Given the description of an element on the screen output the (x, y) to click on. 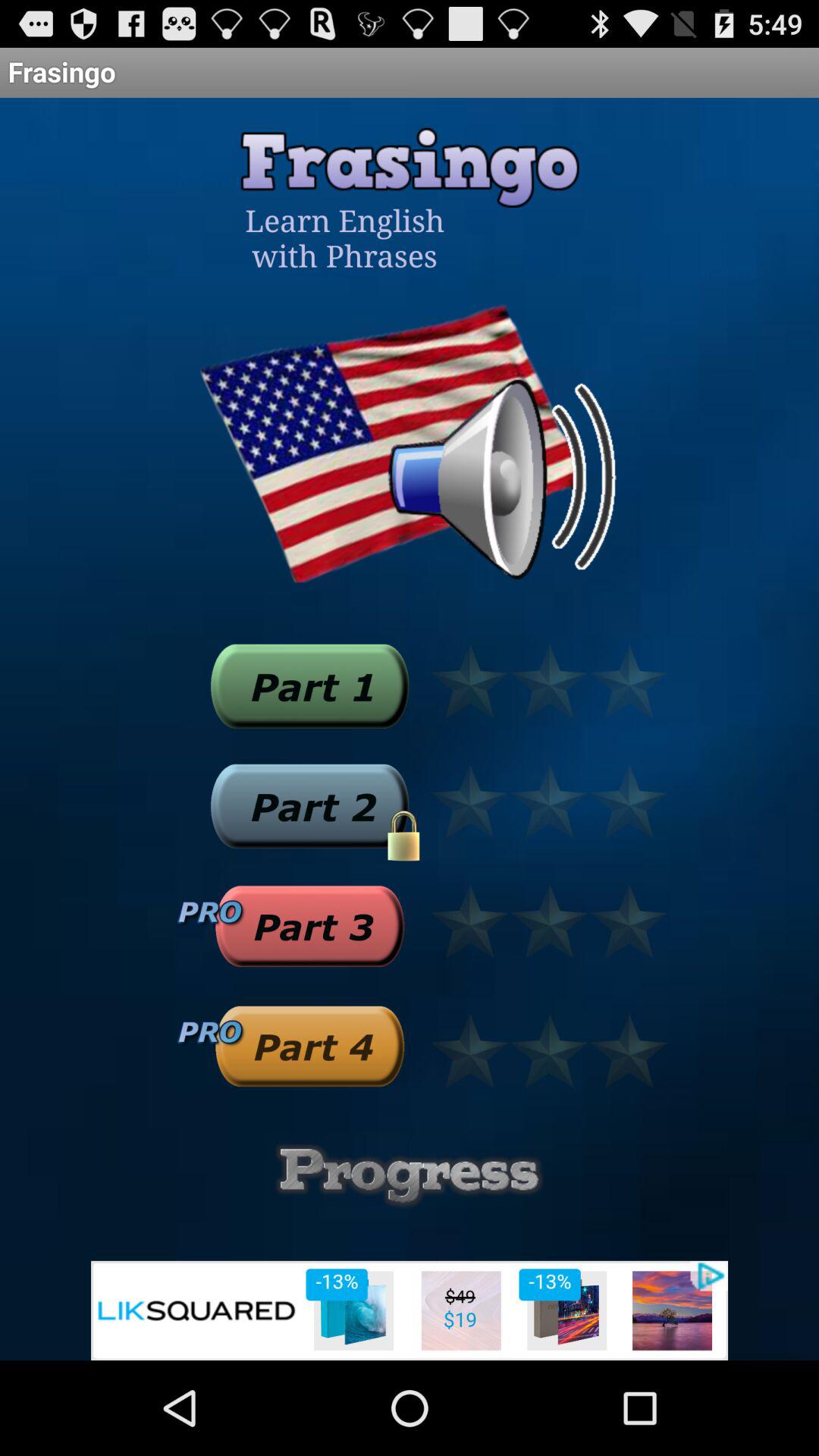
progress indicator (409, 1175)
